Given the description of an element on the screen output the (x, y) to click on. 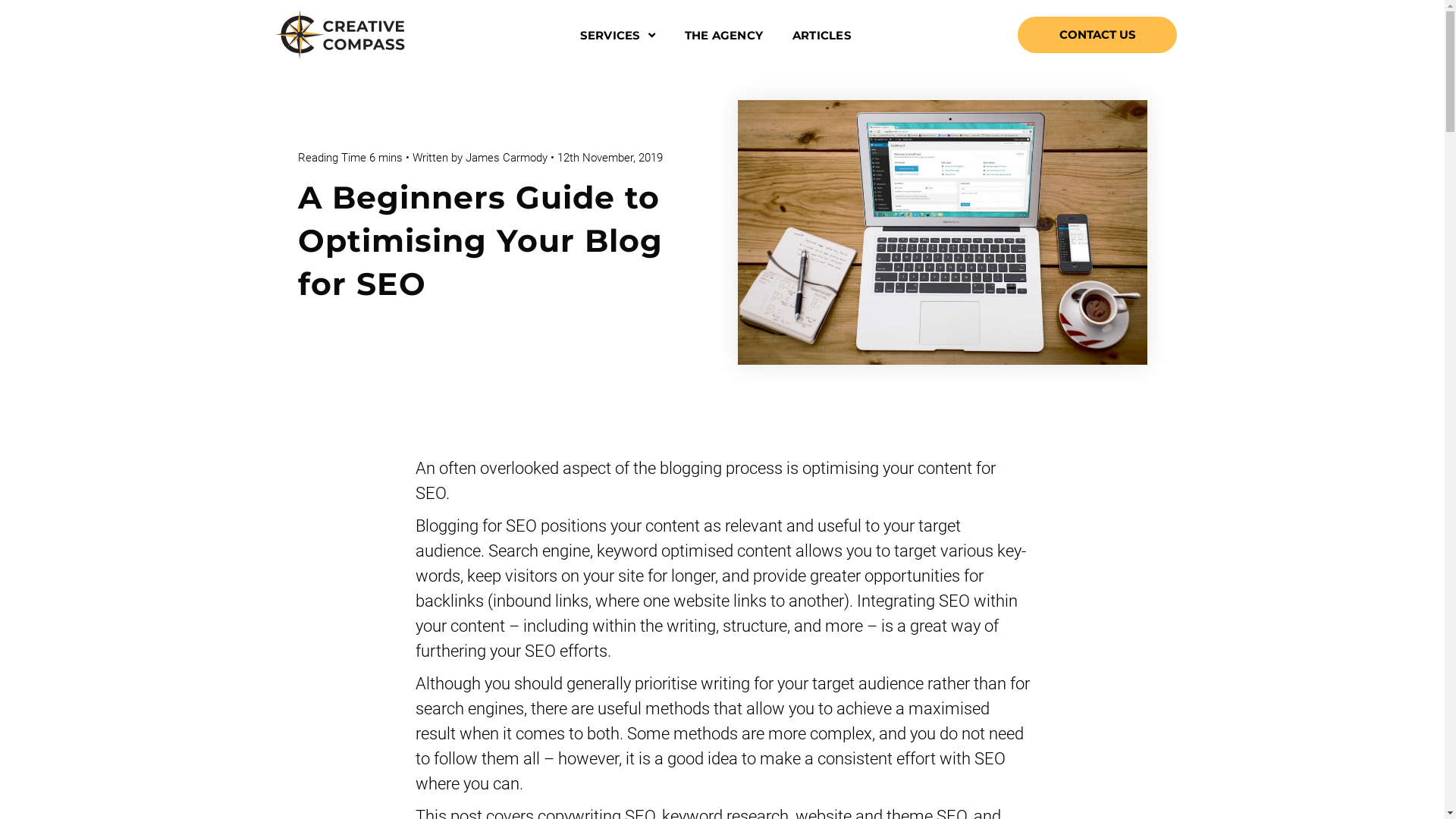
CC_Logo_Stacked_v5-01 Element type: hover (339, 34)
ARTICLES Element type: text (821, 34)
blogphoto3 Element type: hover (941, 232)
SERVICES Element type: text (616, 34)
CONTACT US Element type: text (1096, 34)
THE AGENCY Element type: text (723, 34)
